Given the description of an element on the screen output the (x, y) to click on. 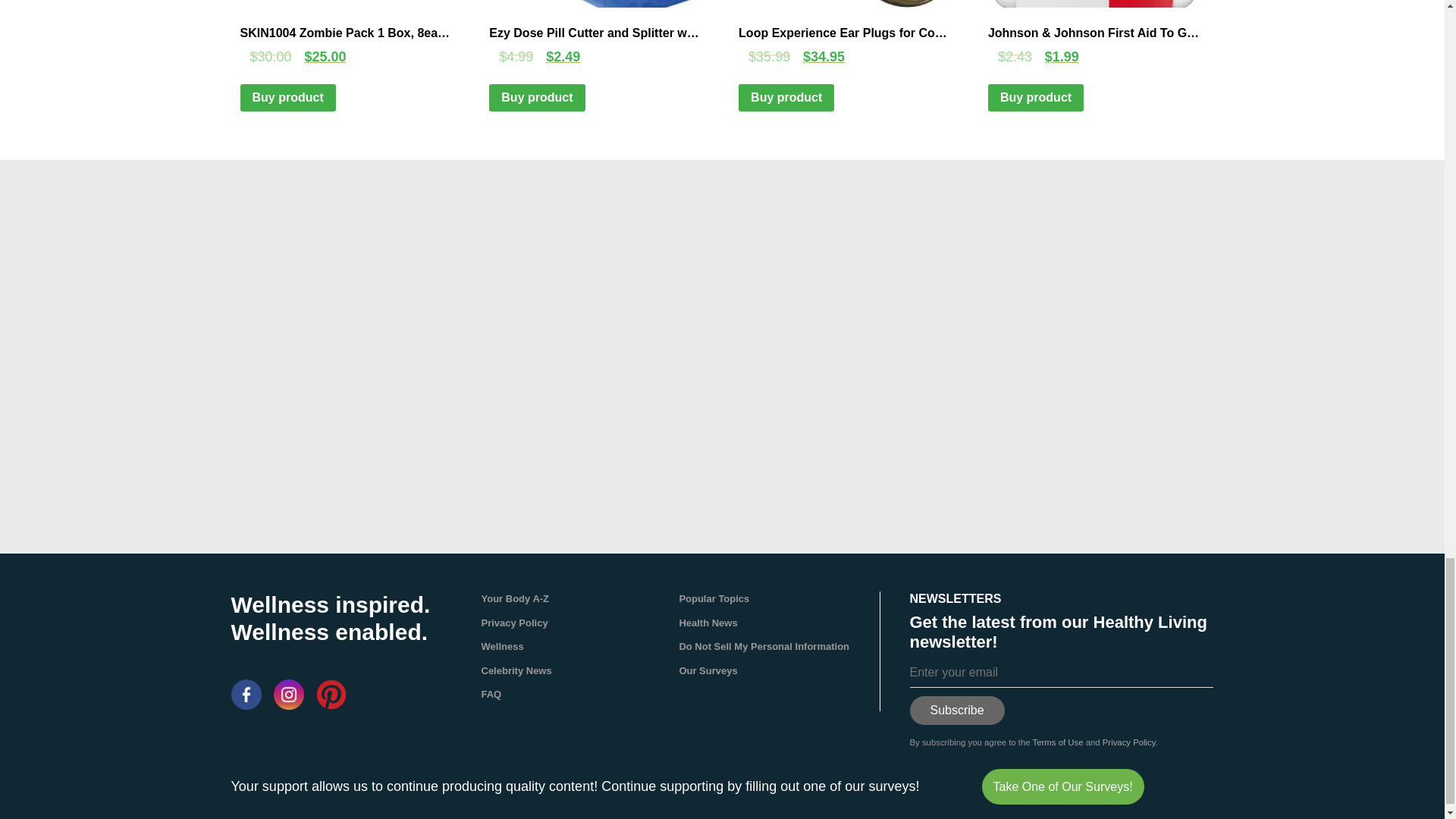
Subscribe (957, 710)
